Given the description of an element on the screen output the (x, y) to click on. 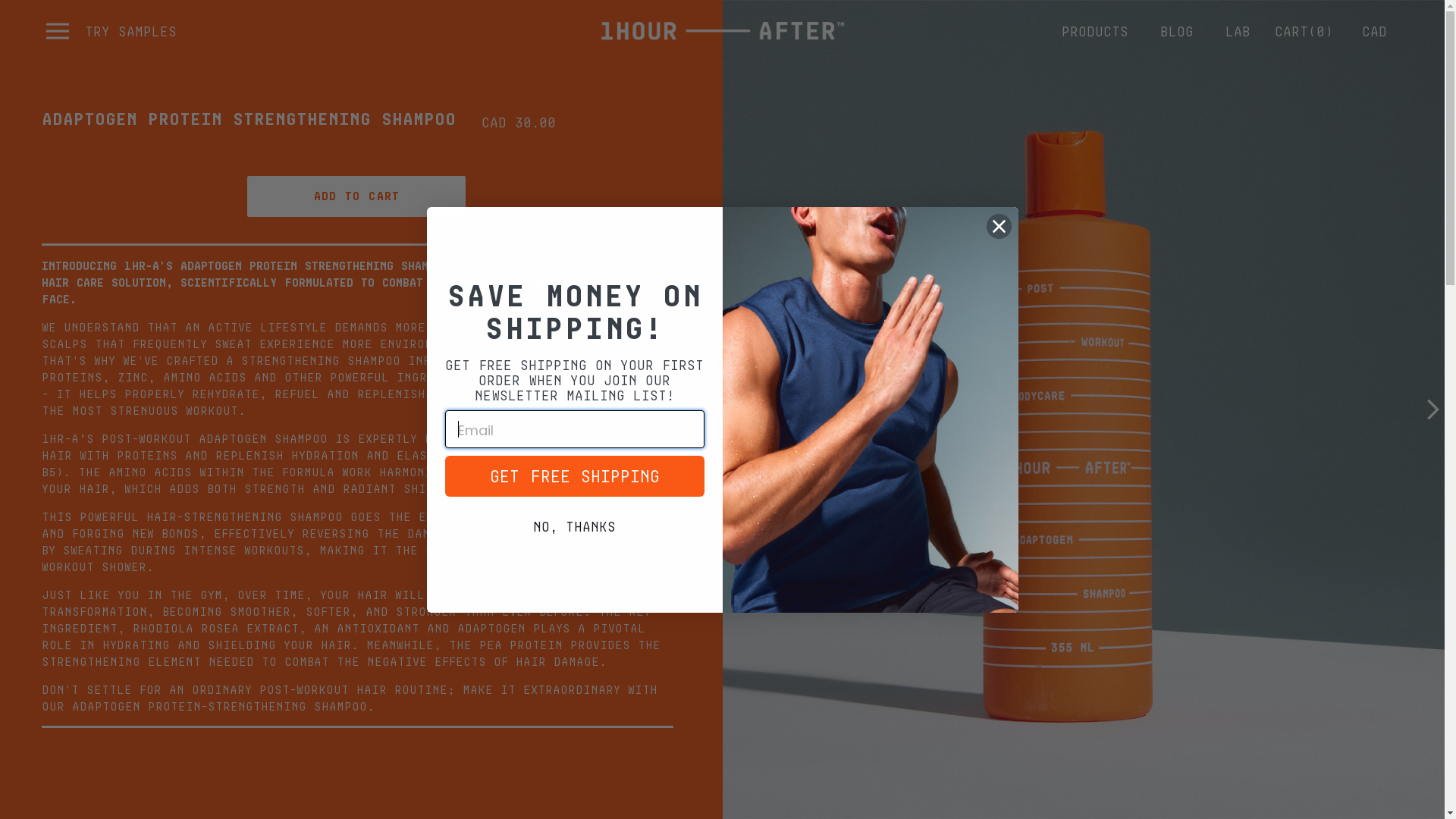
PRODUCTS Element type: text (1094, 30)
TRY SAMPLES Element type: text (130, 30)
Next Element type: text (1432, 409)
Previous Element type: text (732, 409)
CART(0)
CART Element type: text (1303, 30)
No, thanks Element type: text (573, 525)
BLOG Element type: text (1176, 30)
ADD TO CART Element type: text (356, 195)
LAB Element type: text (1237, 30)
Get Free Shipping Element type: text (573, 475)
Submit Element type: text (39, 15)
